Given the description of an element on the screen output the (x, y) to click on. 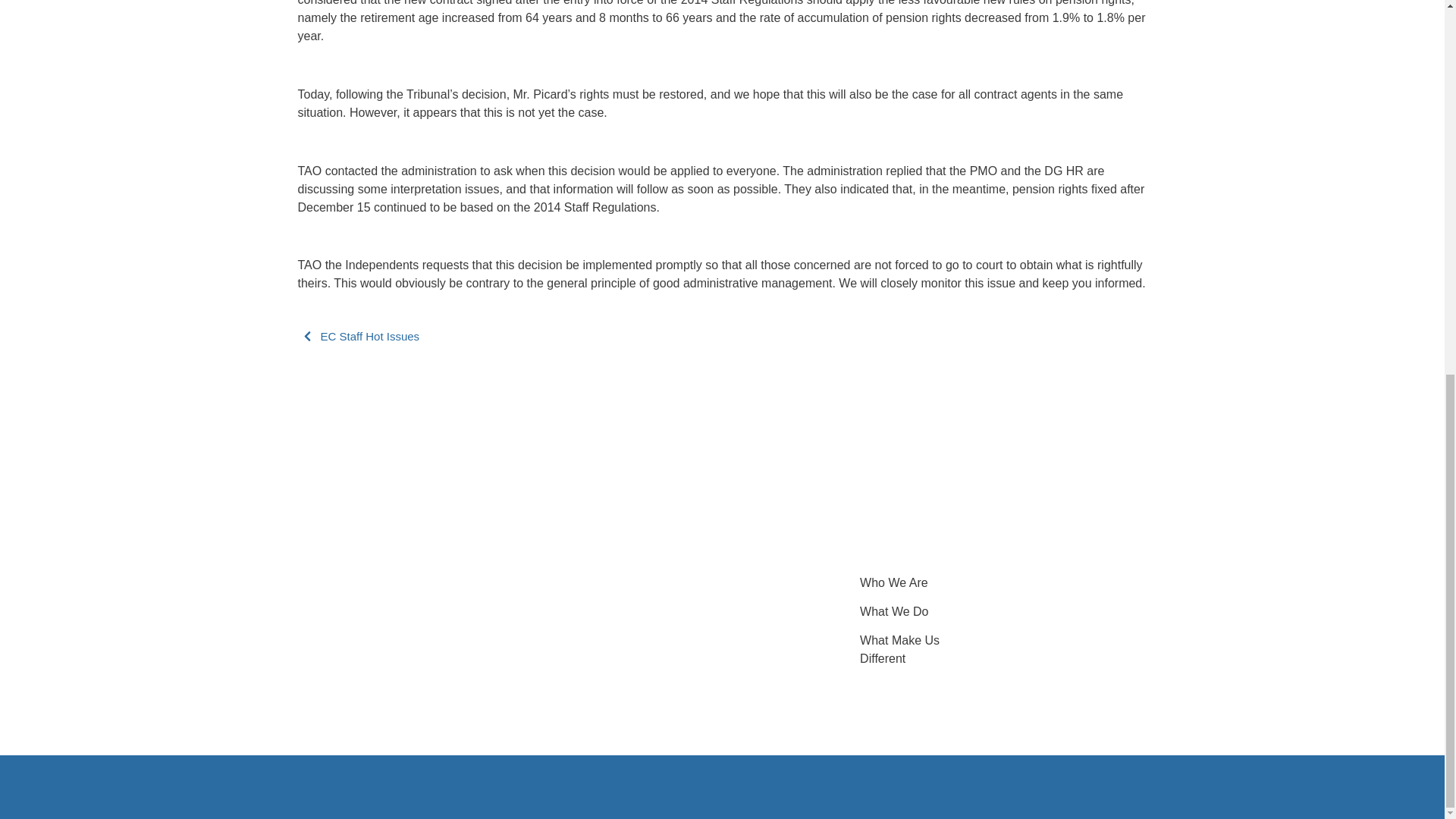
EC Staff Hot Issues (369, 336)
Who We Are (894, 582)
What We Do (894, 611)
What Make Us Different (899, 649)
